Given the description of an element on the screen output the (x, y) to click on. 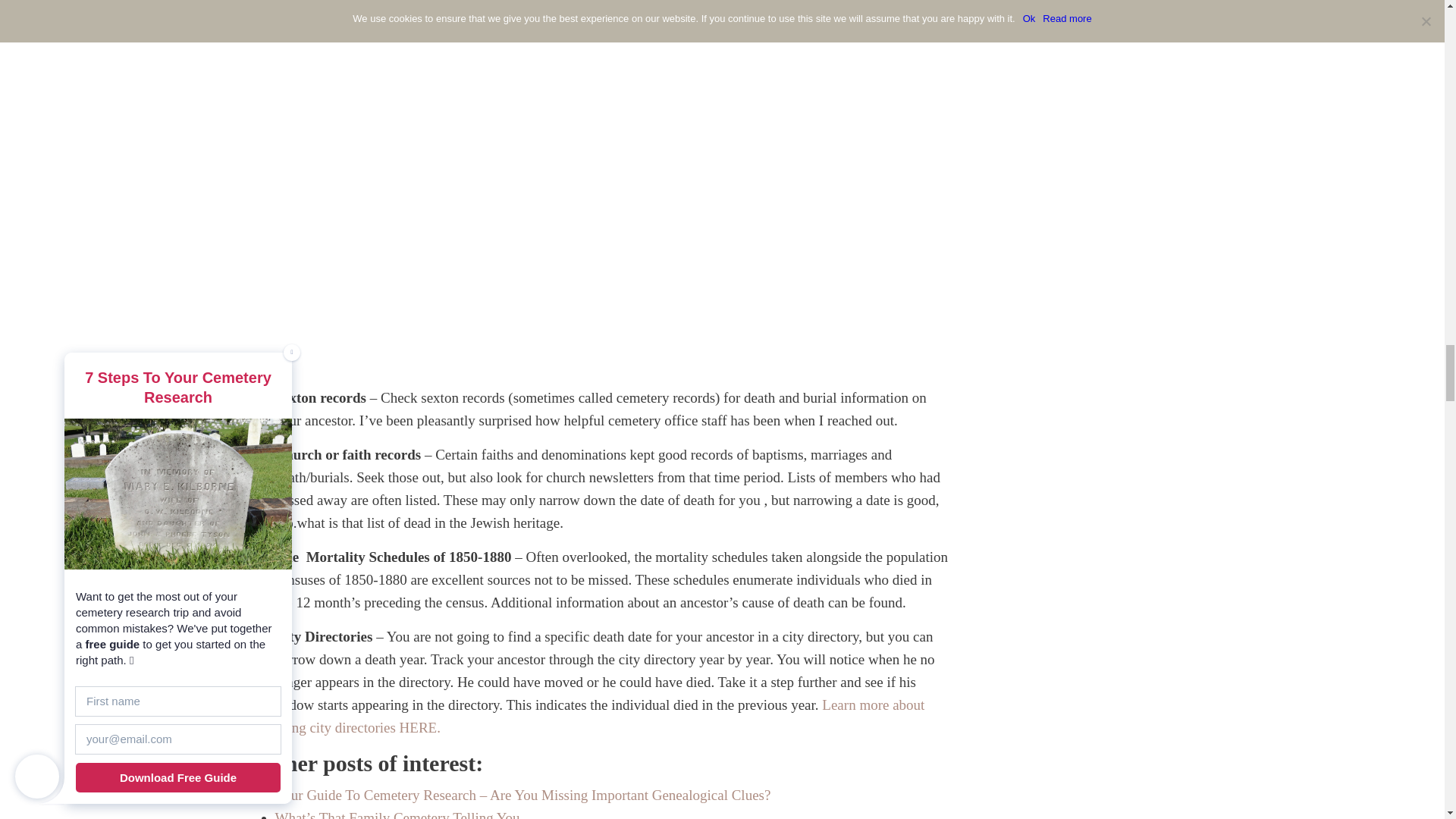
Learn more about using city directories HERE. (599, 715)
